Given the description of an element on the screen output the (x, y) to click on. 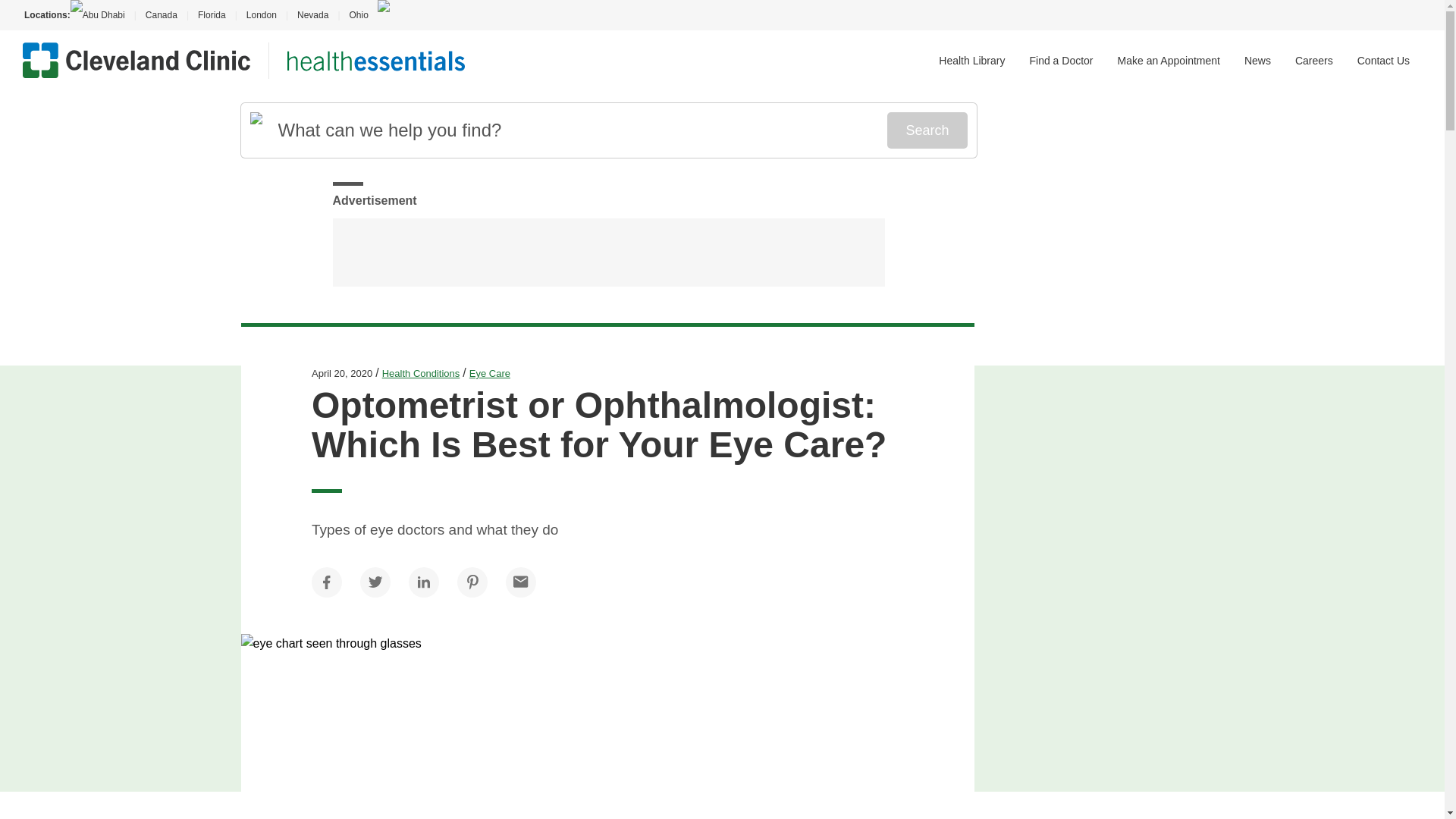
Eye Care (489, 373)
Canada (161, 15)
Health Conditions (420, 373)
Health Library (971, 60)
Contact Us (1382, 60)
Careers (1314, 60)
Ohio (358, 15)
News (1257, 60)
Florida (211, 15)
Make an Appointment (1169, 60)
London (261, 15)
Nevada (312, 15)
Abu Dhabi (101, 15)
Find a Doctor (1061, 60)
